Given the description of an element on the screen output the (x, y) to click on. 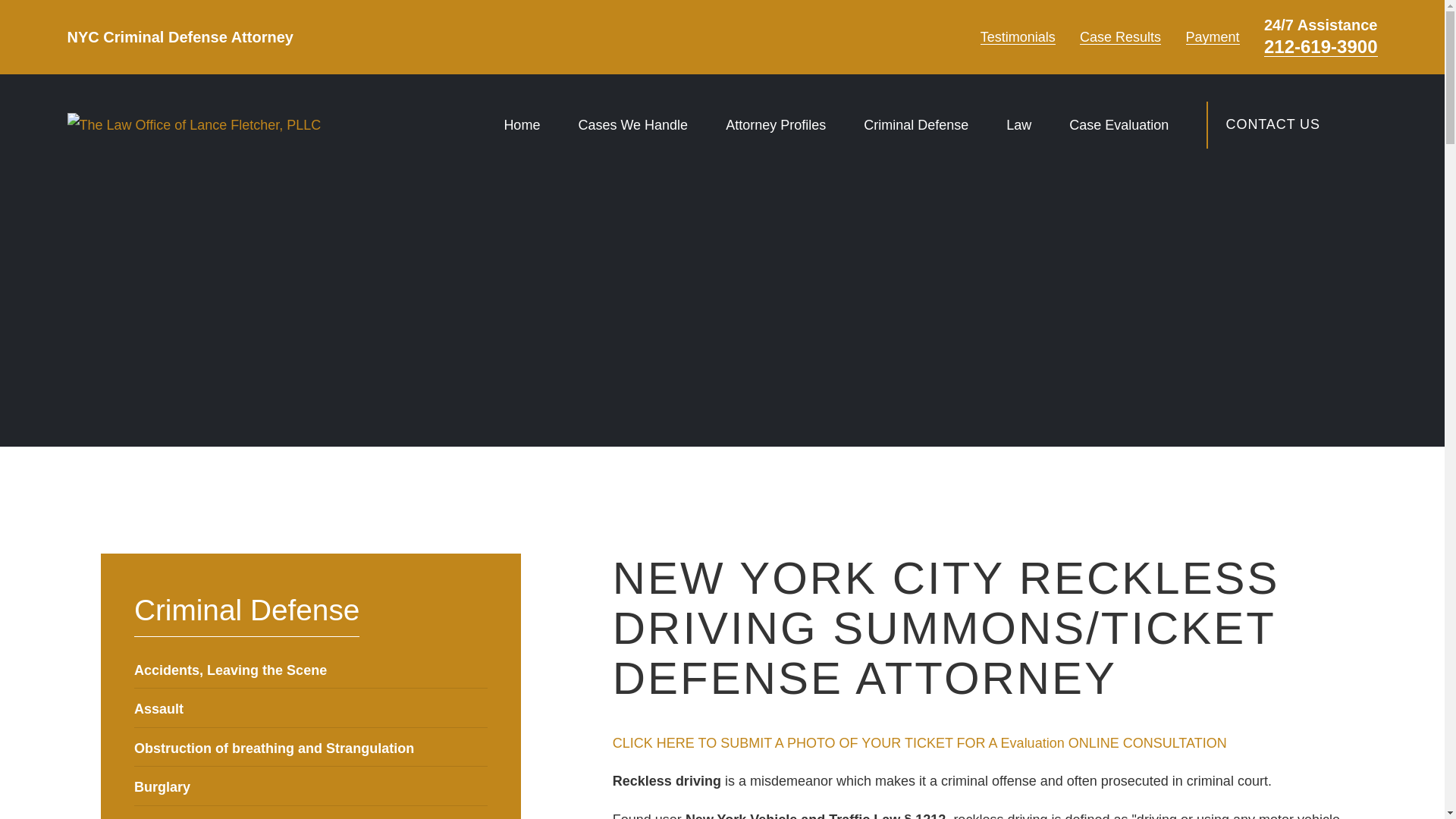
Open child menu of Assault (480, 707)
Payment (1213, 37)
Cases We Handle (632, 124)
Case Results (1120, 37)
212-619-3900 (1320, 46)
Home (193, 125)
Testimonials (1017, 37)
Criminal Defense (915, 124)
Attorney Profiles (775, 124)
